Given the description of an element on the screen output the (x, y) to click on. 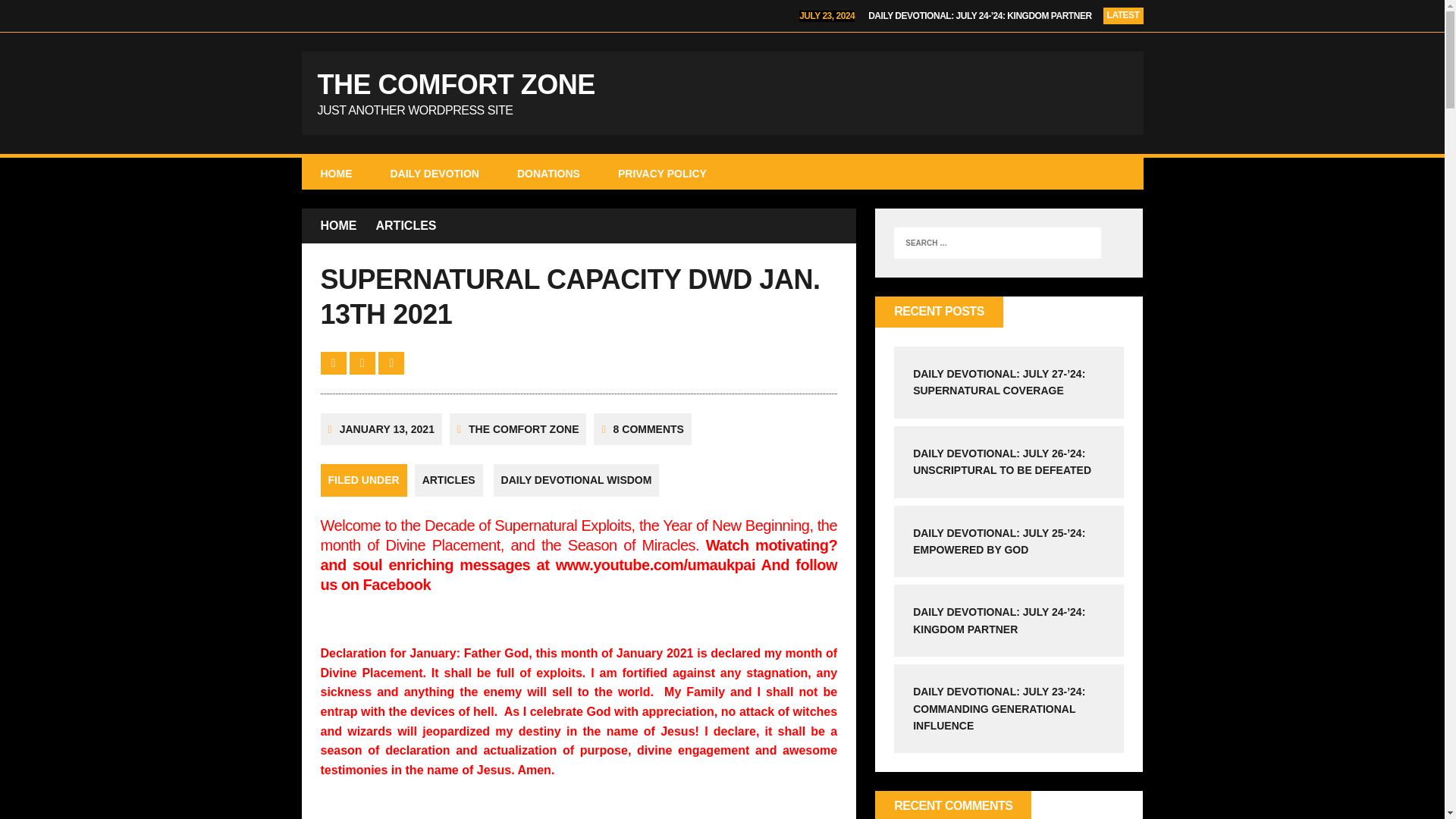
DAILY DEVOTION (434, 173)
HOME (336, 173)
THE COMFORT ZONE (523, 428)
ARTICLES (448, 480)
Search (23, 11)
DAILY DEVOTIONAL WISDOM (576, 480)
HOME (338, 225)
JANUARY 13, 2021 (386, 428)
PRIVACY POLICY (661, 173)
ARTICLES (405, 225)
DONATIONS (721, 93)
The Comfort Zone (547, 173)
